Given the description of an element on the screen output the (x, y) to click on. 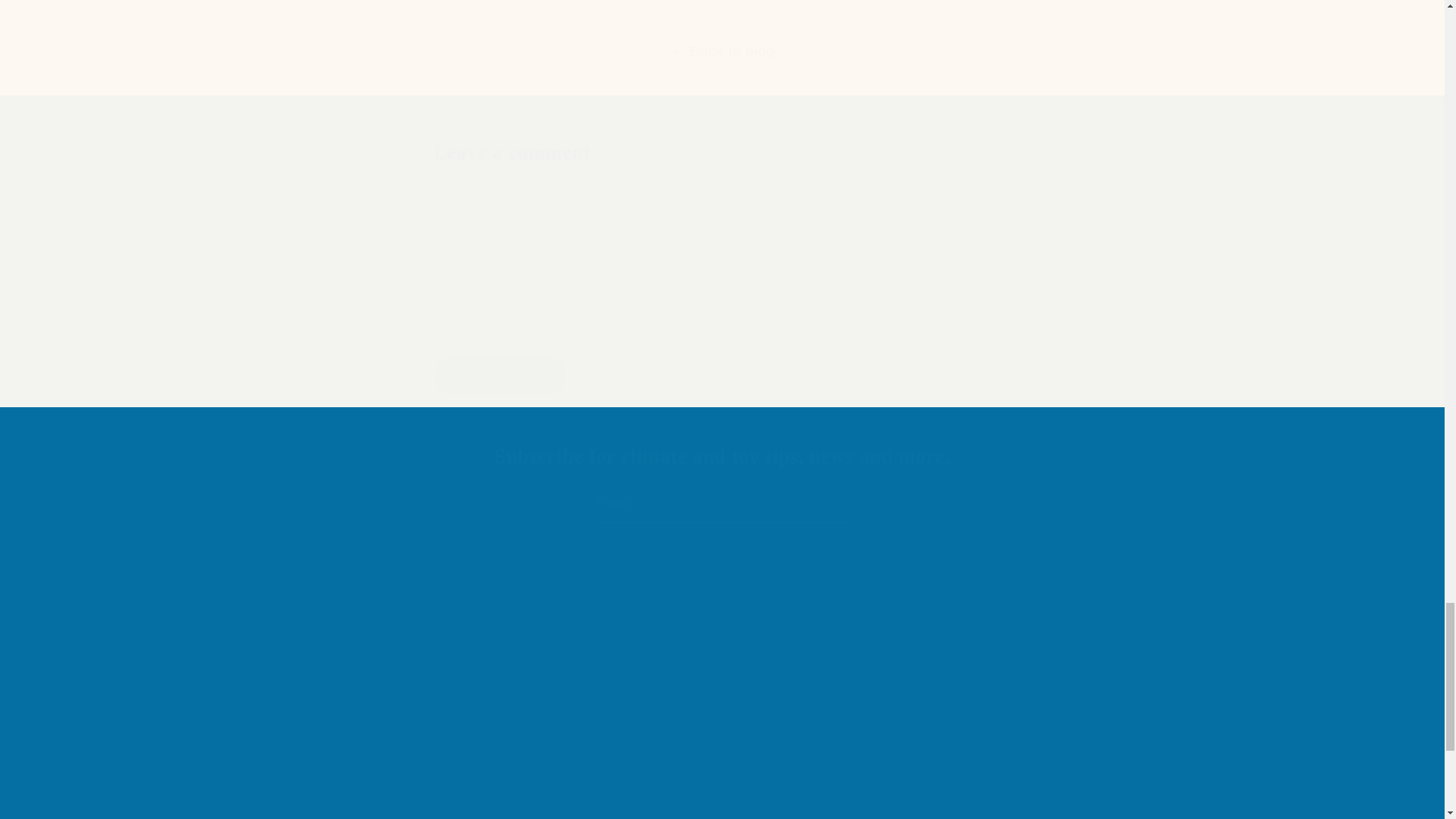
Email (722, 504)
Subscribe for climate and toy tips, news and more. (722, 457)
Post comment (499, 375)
